Given the description of an element on the screen output the (x, y) to click on. 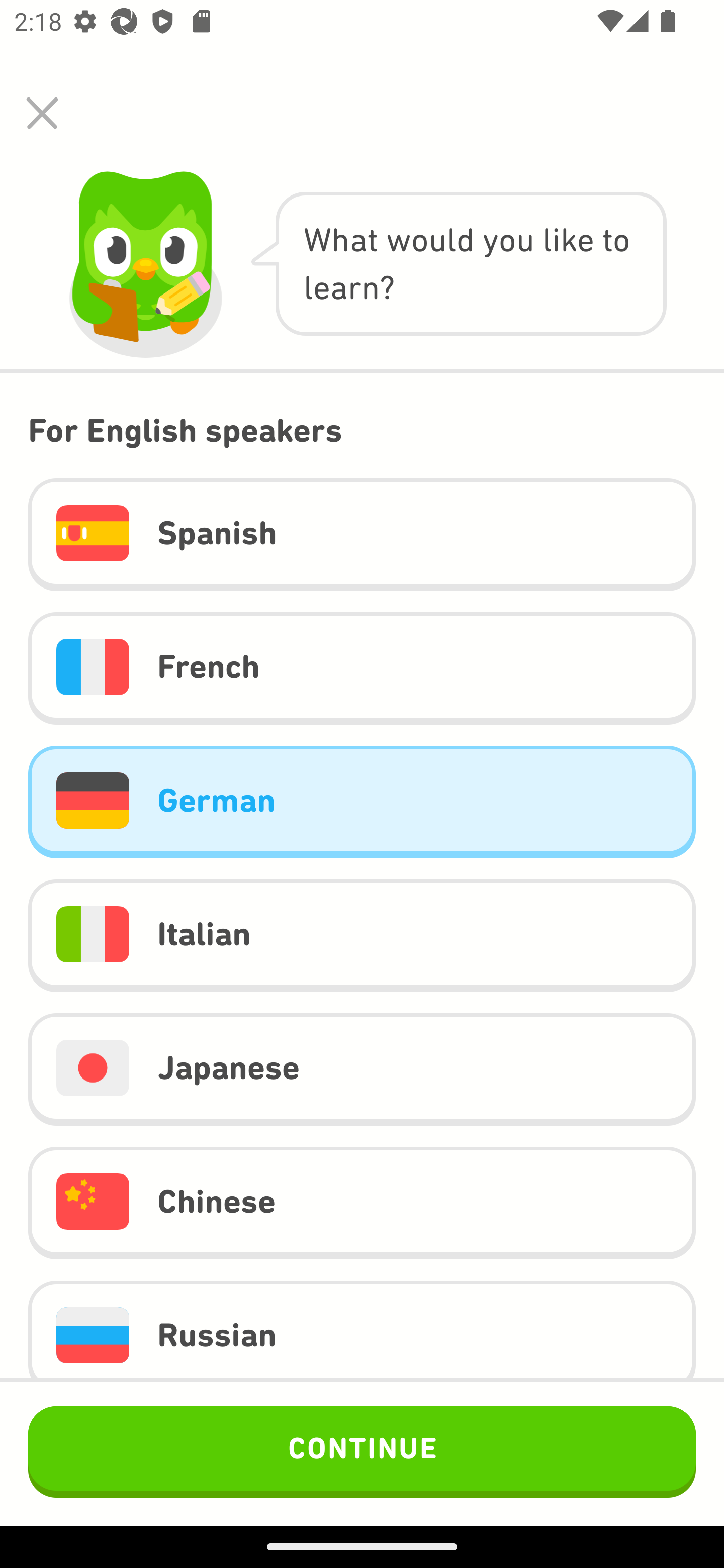
Close Page (41, 112)
For English speakers (361, 430)
Spanish (361, 534)
French (361, 667)
German (361, 801)
Italian (361, 935)
Japanese (361, 1068)
Chinese (361, 1202)
Russian (361, 1329)
CONTINUE (361, 1451)
